Given the description of an element on the screen output the (x, y) to click on. 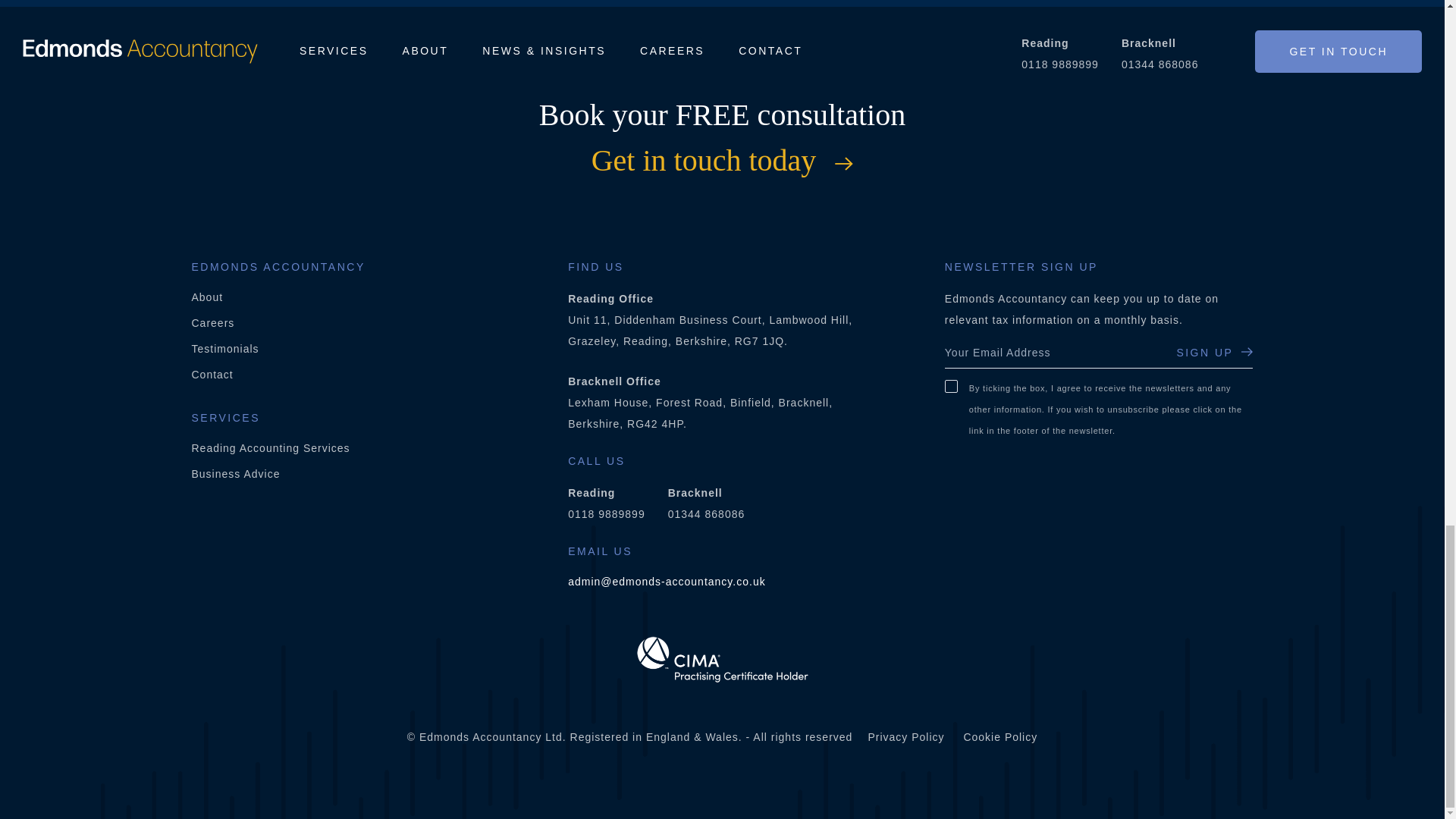
About (206, 297)
Reading Accounting Services (269, 448)
Business Advice (234, 474)
Careers (212, 323)
Contact (211, 374)
Testimonials (224, 349)
Get in touch today (722, 160)
